Given the description of an element on the screen output the (x, y) to click on. 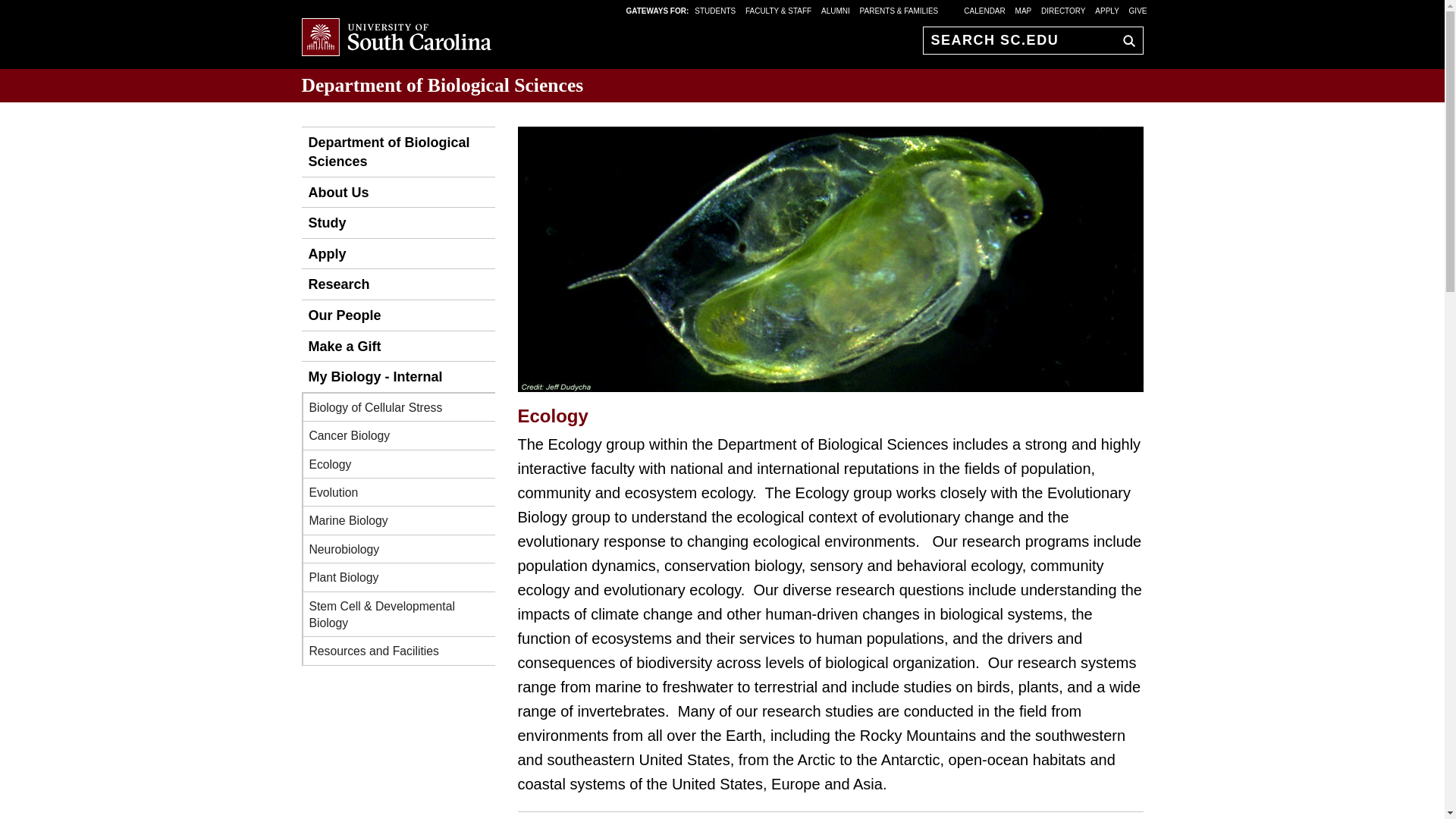
sc.edu Search (1125, 40)
University of South Carolina Home (396, 38)
CALENDAR (983, 9)
DIRECTORY (1063, 9)
ALUMNI (835, 9)
GO (1125, 40)
Department of Biological Sciences (398, 151)
GIVE (1138, 9)
MAP (1023, 9)
Department of Biological Sciences (442, 85)
STUDENTS (716, 9)
APPLY (1106, 9)
GO (1125, 40)
